Given the description of an element on the screen output the (x, y) to click on. 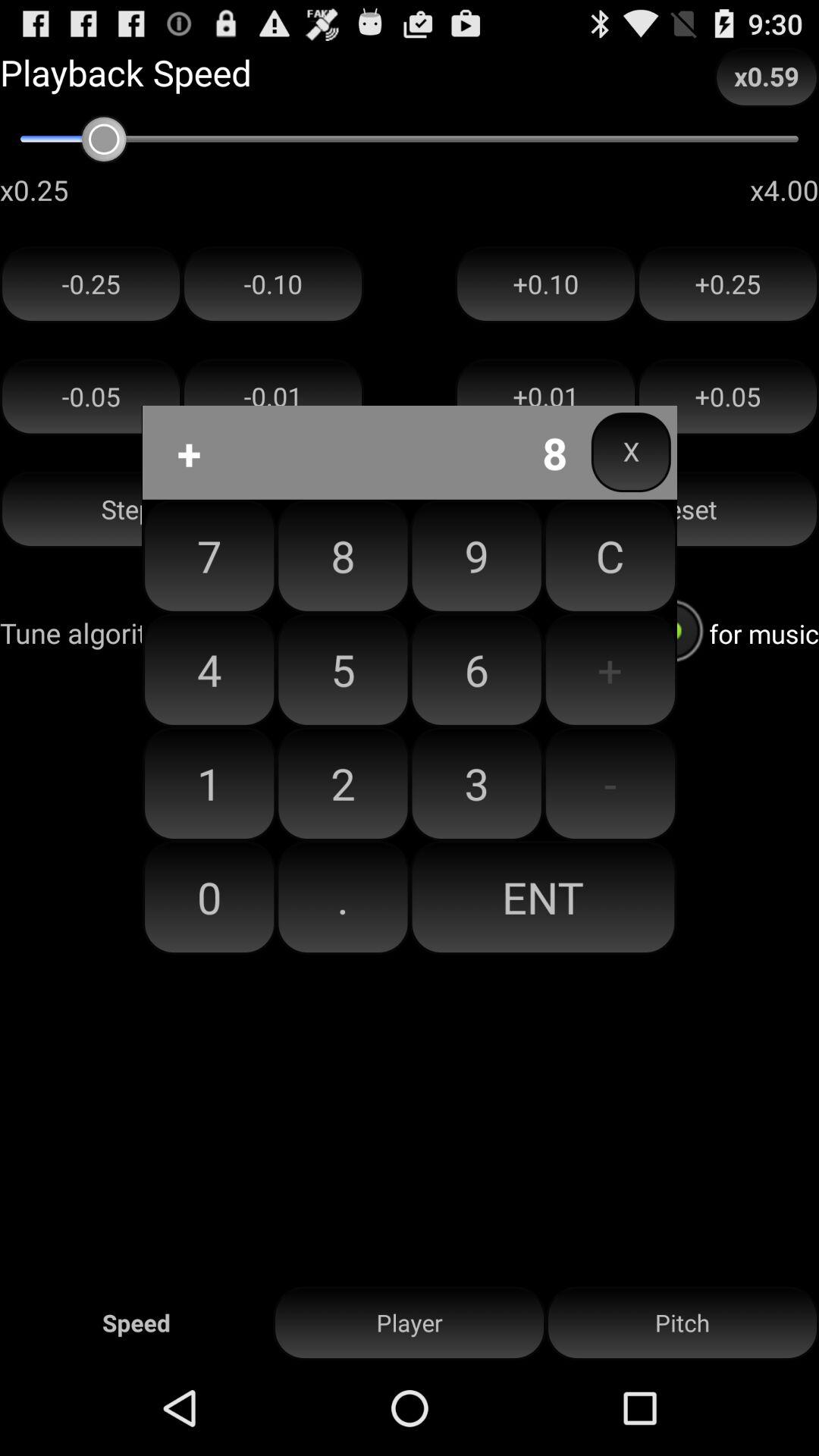
turn on the icon above the 0 icon (342, 783)
